Given the description of an element on the screen output the (x, y) to click on. 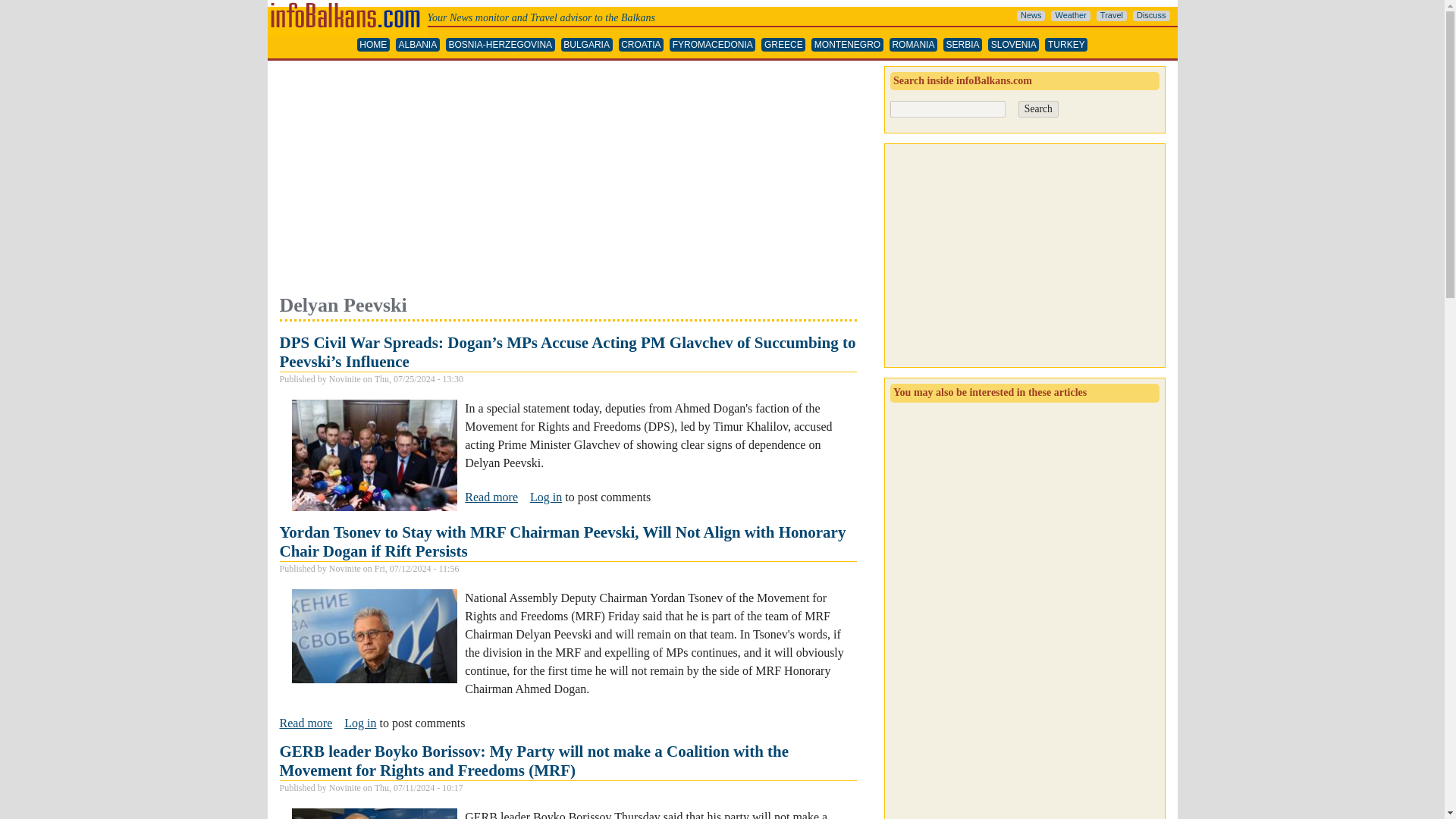
Advertisement (567, 178)
CROATIA (640, 44)
Discuss (1151, 15)
Home (346, 6)
Weather (1070, 15)
Search (1037, 108)
SERBIA (962, 44)
Log in (359, 722)
GREECE (783, 44)
SLOVENIA (1013, 44)
ROMANIA (913, 44)
Log in (545, 496)
